Given the description of an element on the screen output the (x, y) to click on. 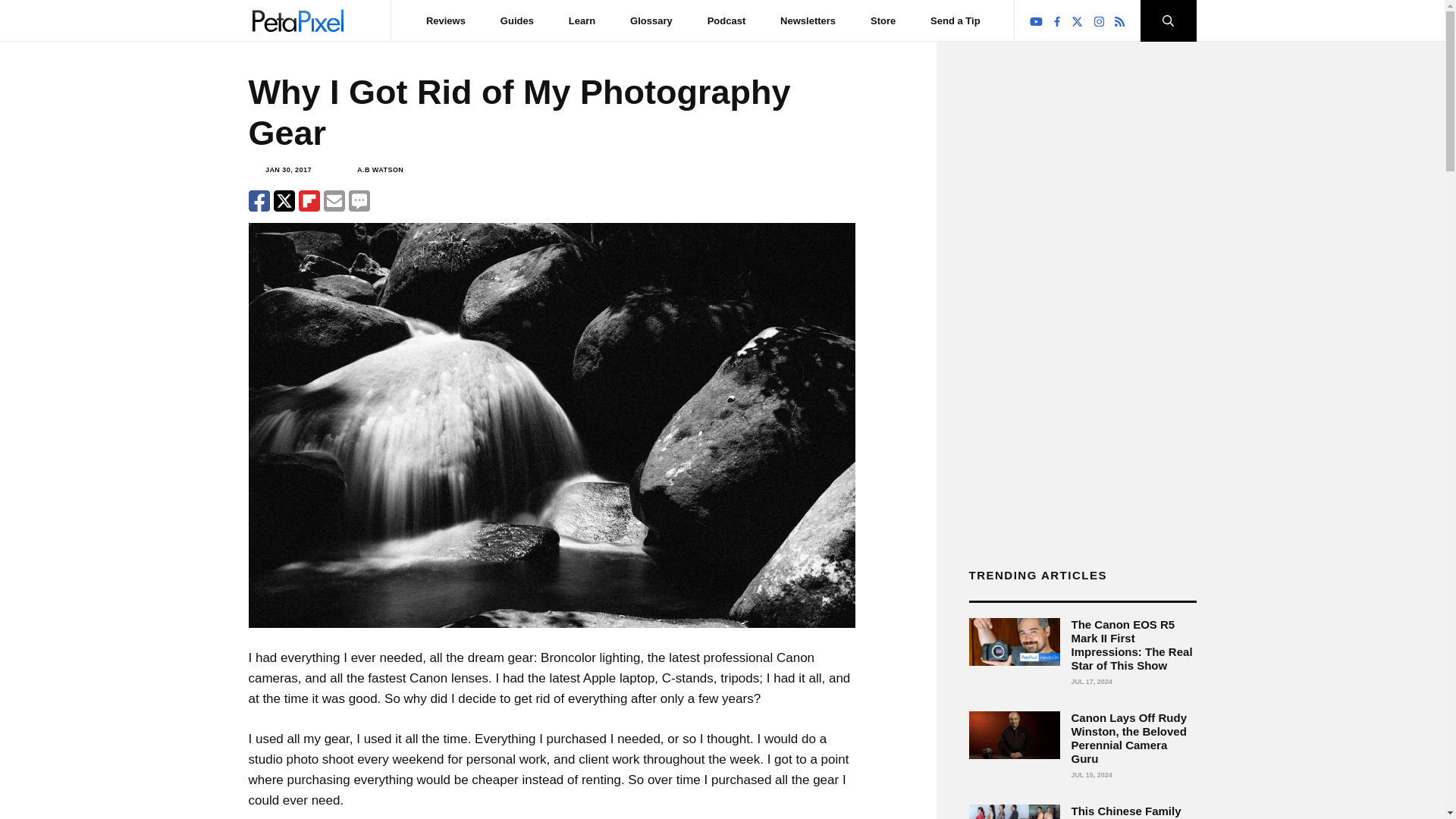
Follow PetaPixel on YouTube (1035, 21)
Share on facebook (258, 200)
Learn (582, 20)
Email this article (333, 200)
PetaPixel (296, 20)
Store (882, 20)
Follow PetaPixel on X (1077, 21)
Comments (359, 200)
Reviews (445, 20)
Podcast (726, 20)
Share on Flipboard (309, 200)
Glossary (651, 20)
Newsletters (807, 20)
Send a Tip (954, 20)
PetaPixel (296, 20)
